Given the description of an element on the screen output the (x, y) to click on. 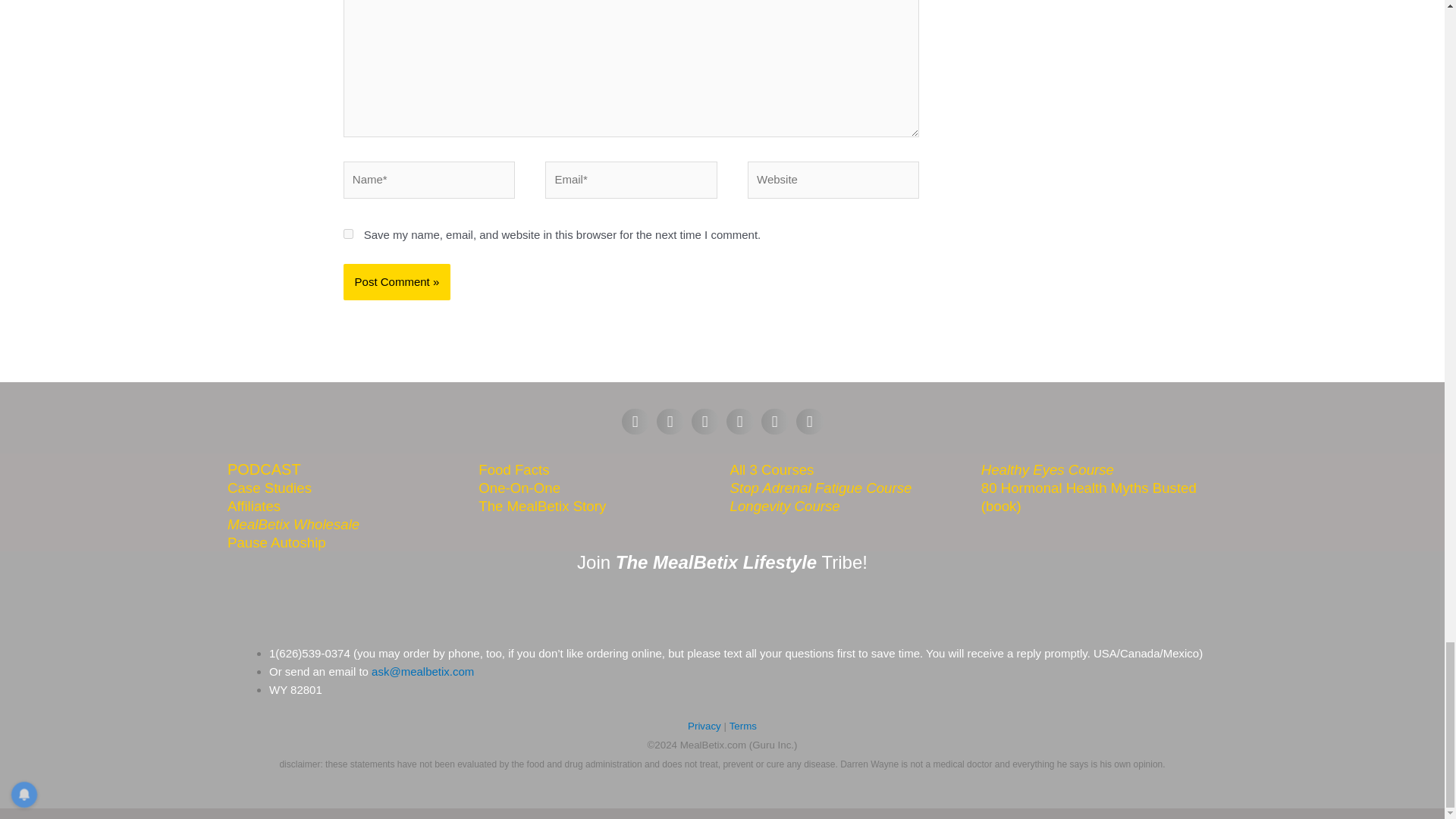
PODCAST (264, 469)
yes (348, 234)
Case Studies (269, 487)
